Given the description of an element on the screen output the (x, y) to click on. 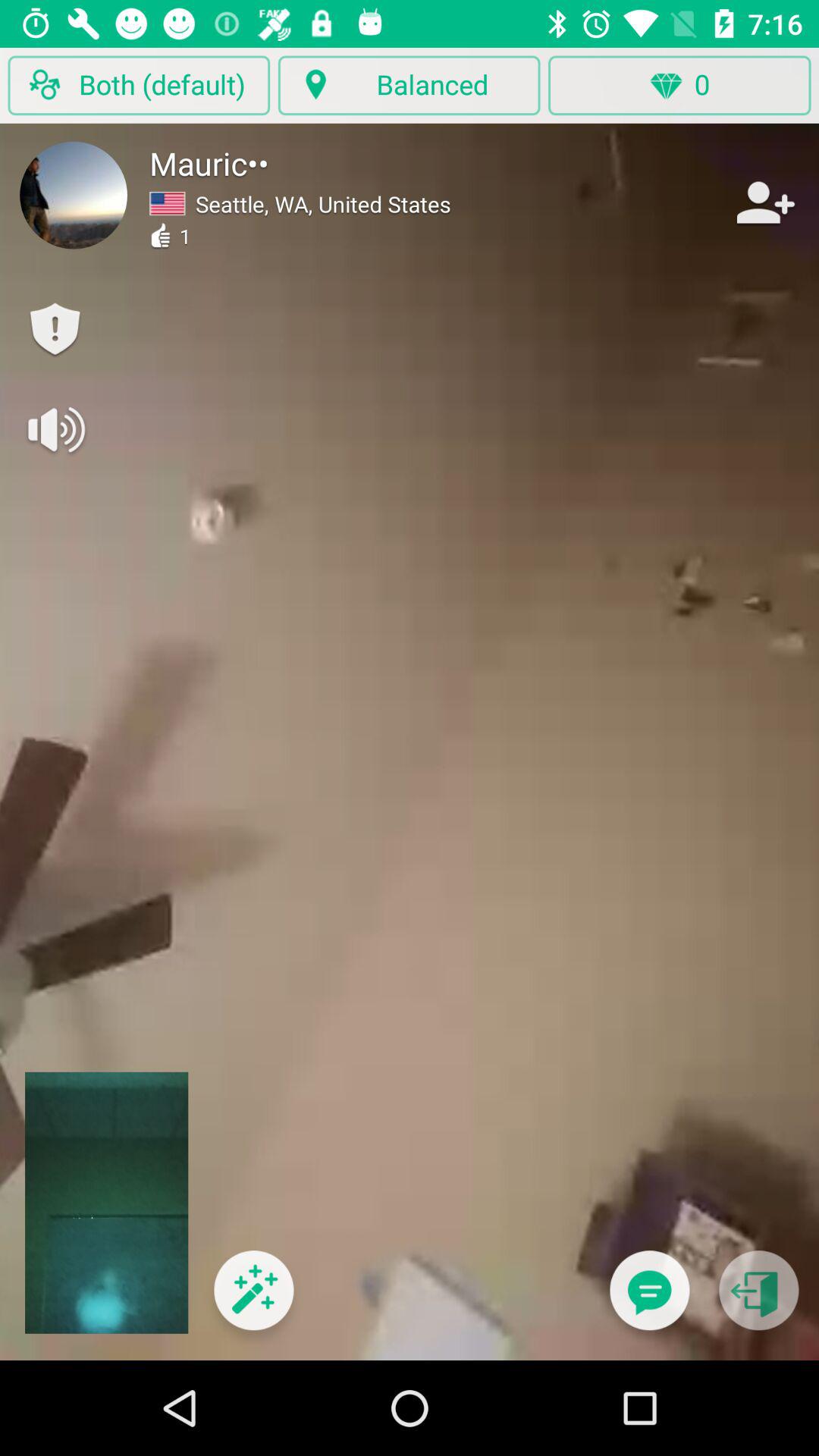
add a person (763, 202)
